Given the description of an element on the screen output the (x, y) to click on. 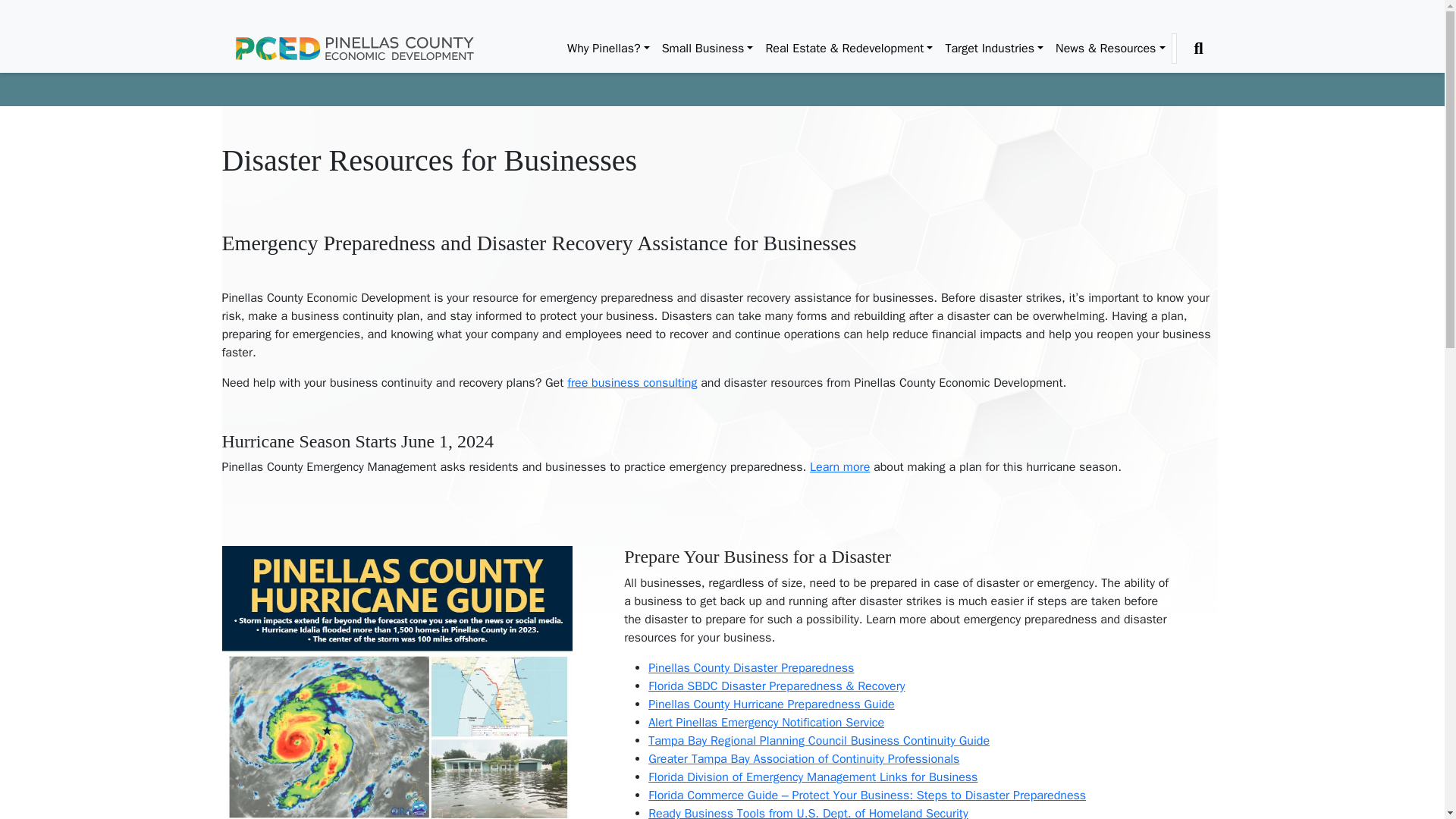
Why Pinellas? (608, 48)
Small Business (708, 48)
Target Industries (994, 48)
